Given the description of an element on the screen output the (x, y) to click on. 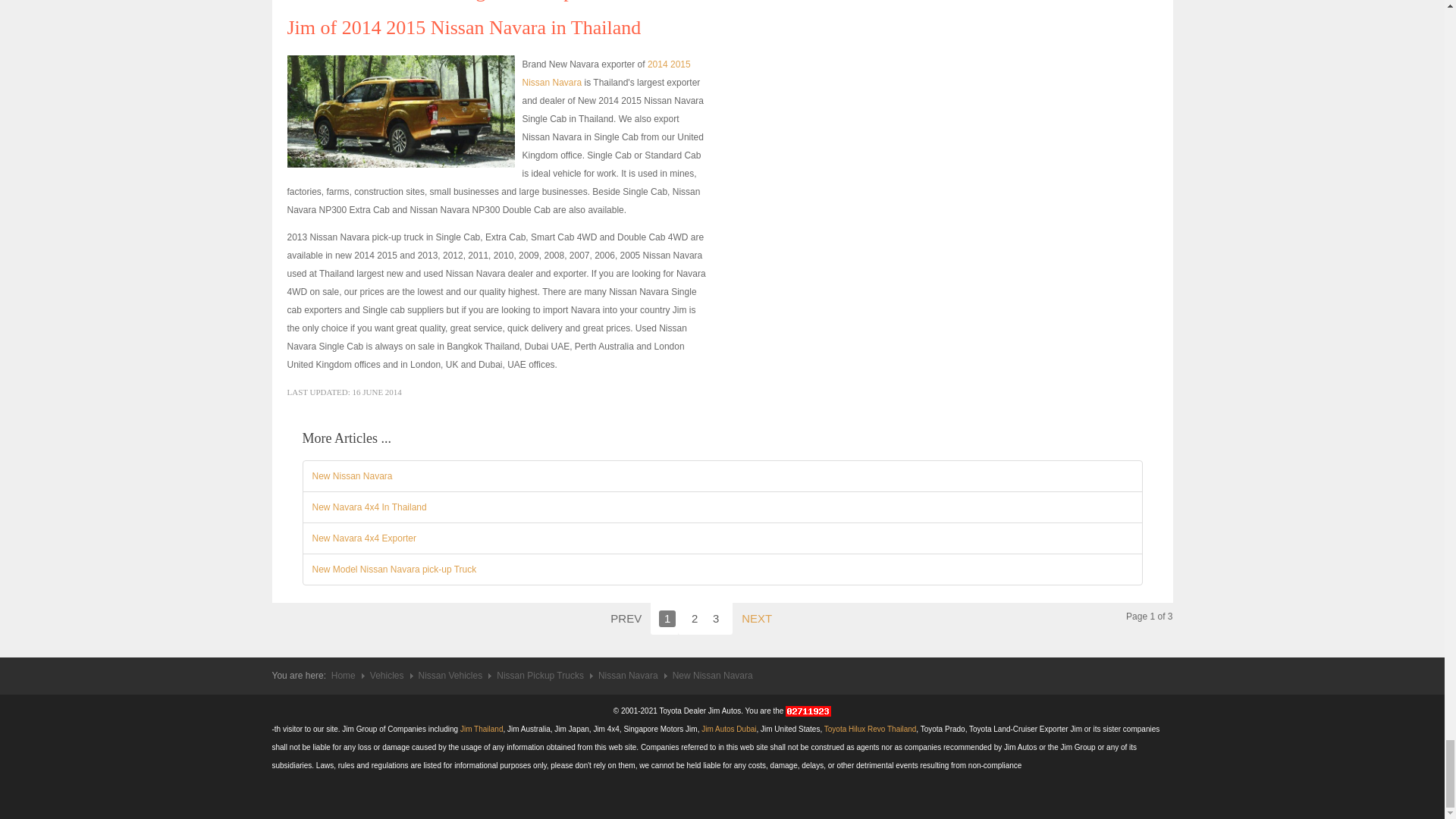
3 (715, 618)
Next (756, 617)
2 (694, 618)
